Given the description of an element on the screen output the (x, y) to click on. 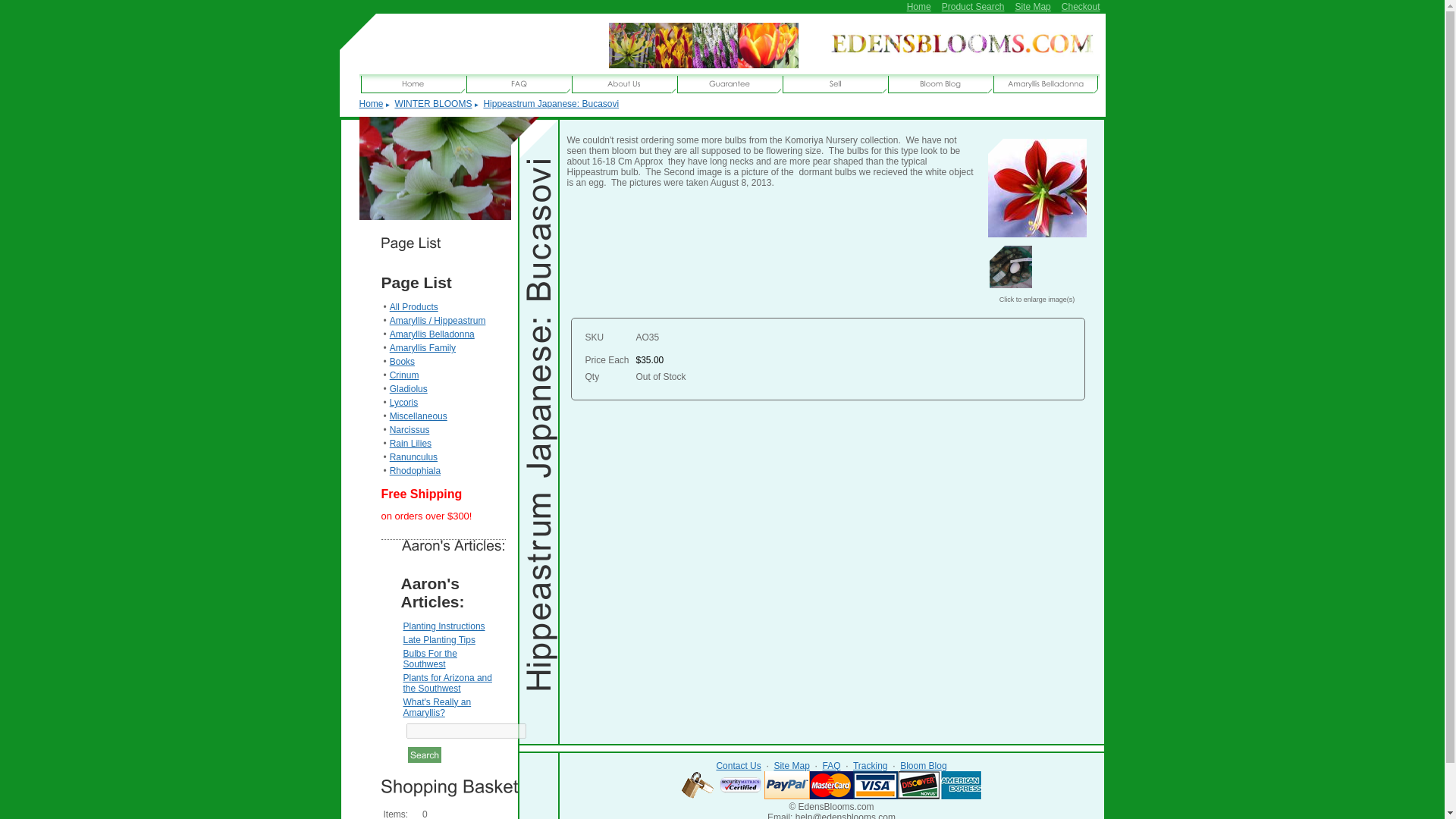
Bulbs For the Southwest (430, 658)
Planting Instructions (443, 625)
Site Map (791, 765)
Amaryllis Belladonna (432, 334)
Home (919, 6)
Hippeastrum Japanese: Bucasovi (550, 103)
Crinum (404, 375)
Hippeastrum Japanese: Bucasovi (1036, 234)
Plants for Arizona and the Southwest (447, 682)
Books (402, 361)
